Given the description of an element on the screen output the (x, y) to click on. 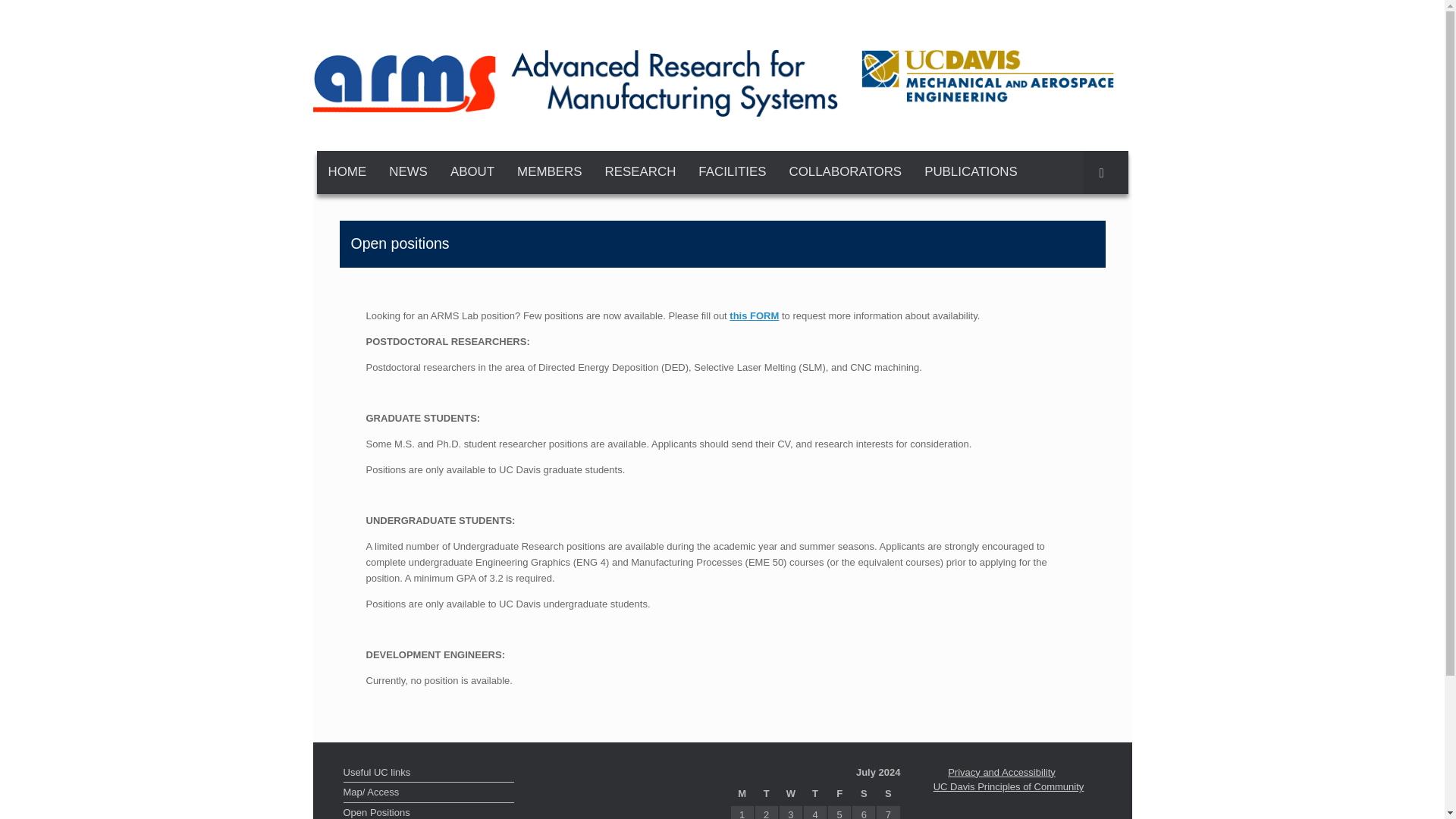
Monday (741, 794)
RESEARCH (639, 172)
Privacy and Accessibility (1001, 772)
Open Positions (427, 812)
PUBLICATIONS (970, 172)
Thursday (815, 794)
NEWS (408, 172)
Saturday (863, 794)
Sunday (887, 794)
UC Davis Principles of Community (1008, 786)
MEMBERS (548, 172)
this FORM (753, 315)
Wednesday (790, 794)
FACILITIES (732, 172)
